Given the description of an element on the screen output the (x, y) to click on. 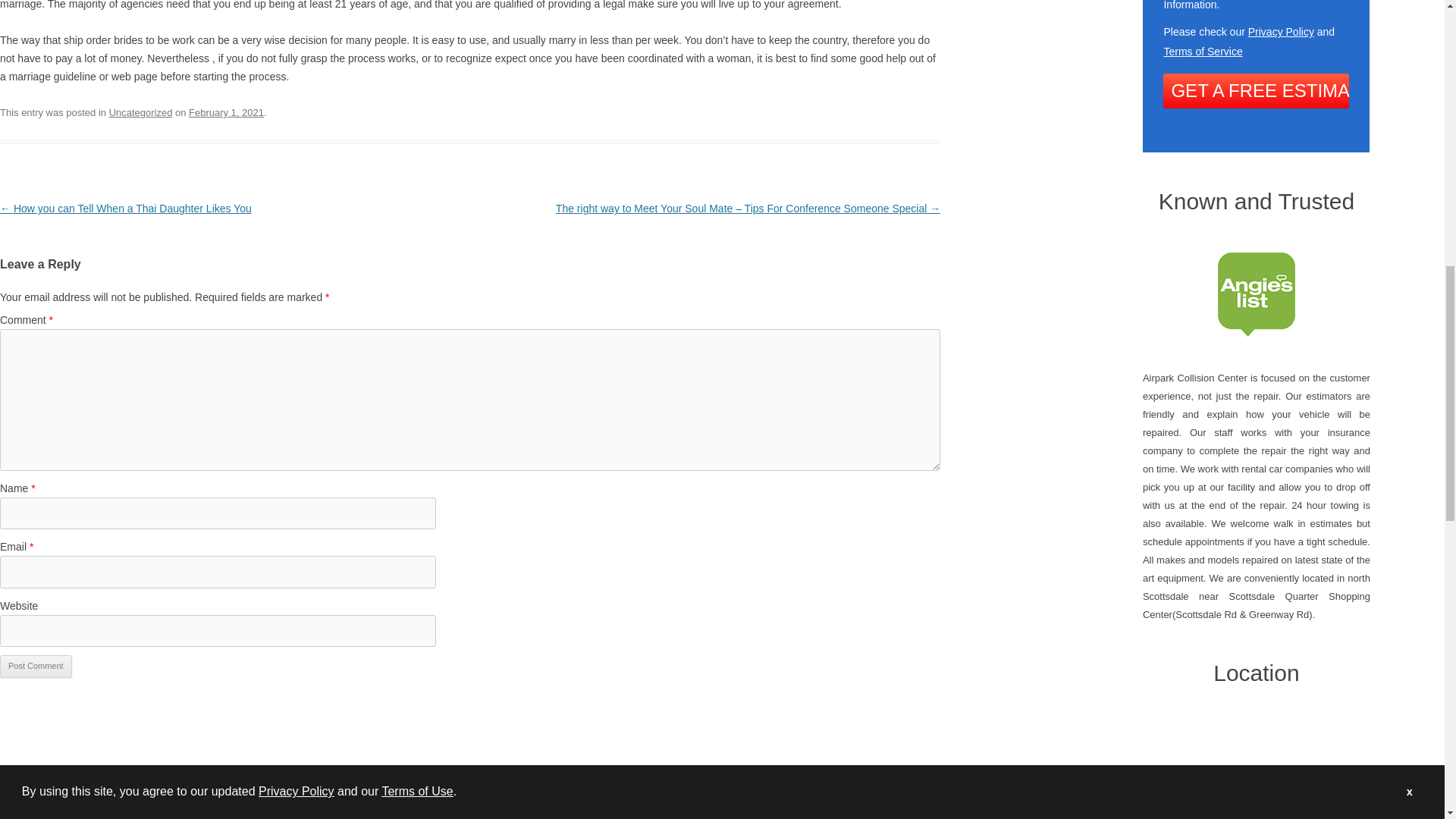
Terms of Service (1202, 51)
Get A Free Estimate (1256, 90)
February 1, 2021 (226, 112)
12:00 am (226, 112)
Get A Free Estimate (1256, 90)
Post Comment (35, 666)
Post Comment (35, 666)
Uncategorized (141, 112)
Privacy Policy (1280, 31)
